Given the description of an element on the screen output the (x, y) to click on. 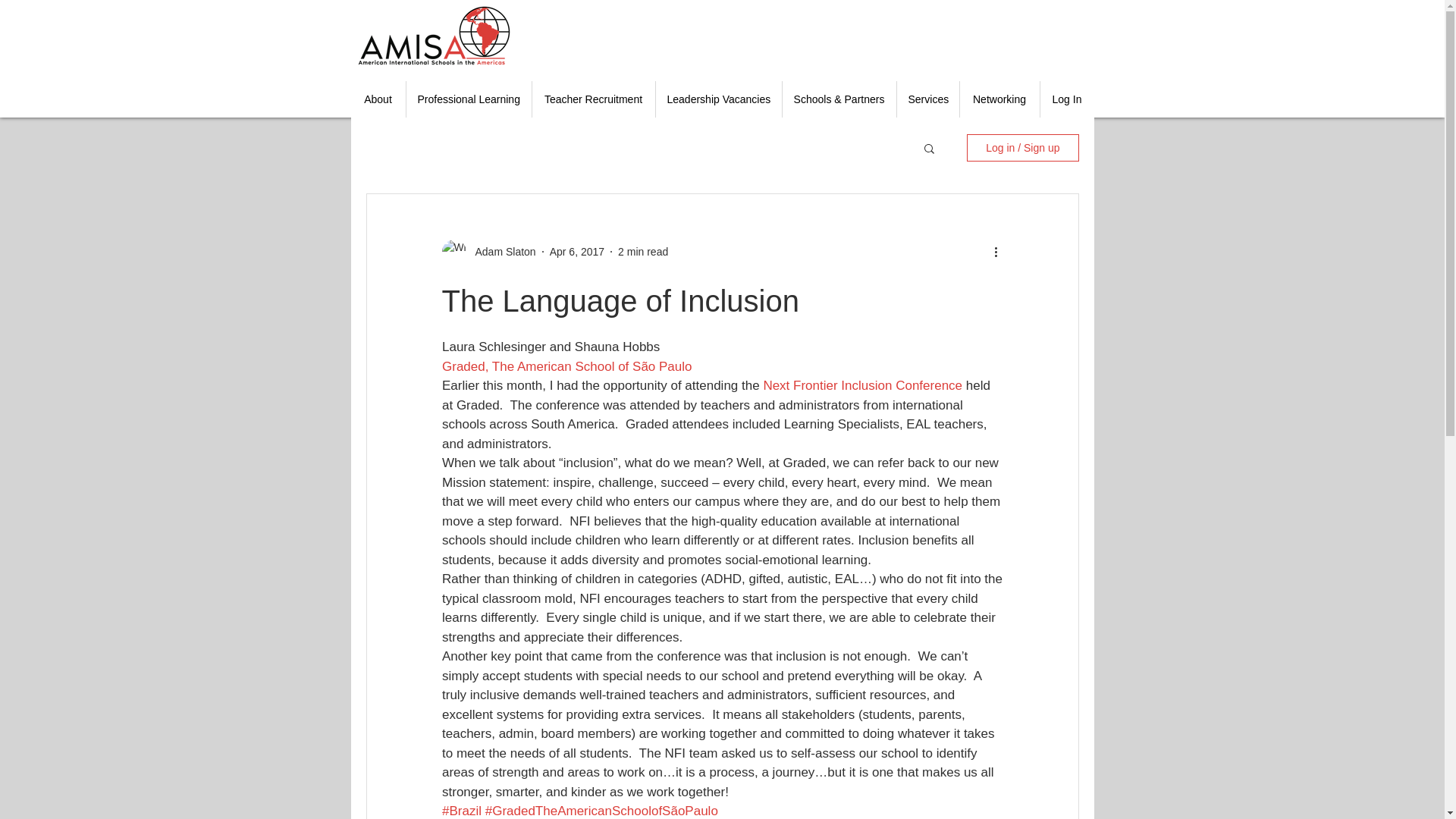
Apr 6, 2017 (577, 251)
AMISA-logo-transparent.png (433, 35)
Adam Slaton (500, 252)
2 min read (642, 251)
